Given the description of an element on the screen output the (x, y) to click on. 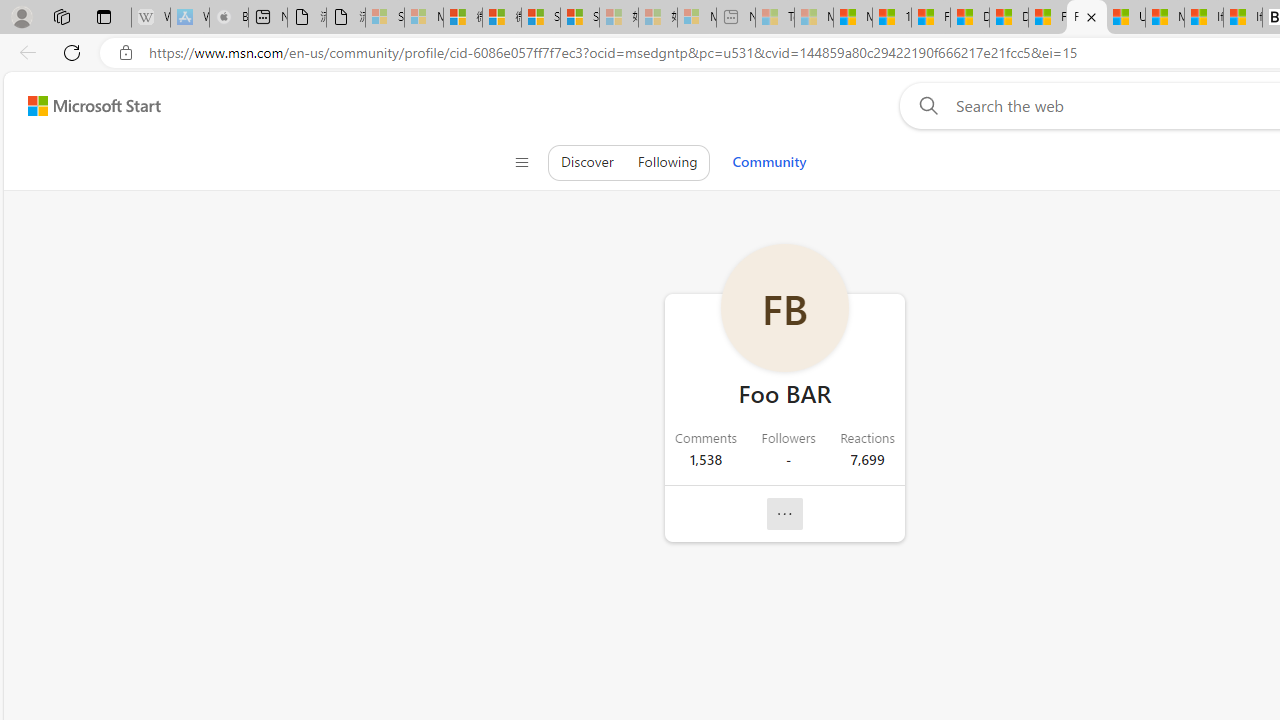
Buy iPad - Apple - Sleeping (228, 17)
Report profile (784, 513)
